Given the description of an element on the screen output the (x, y) to click on. 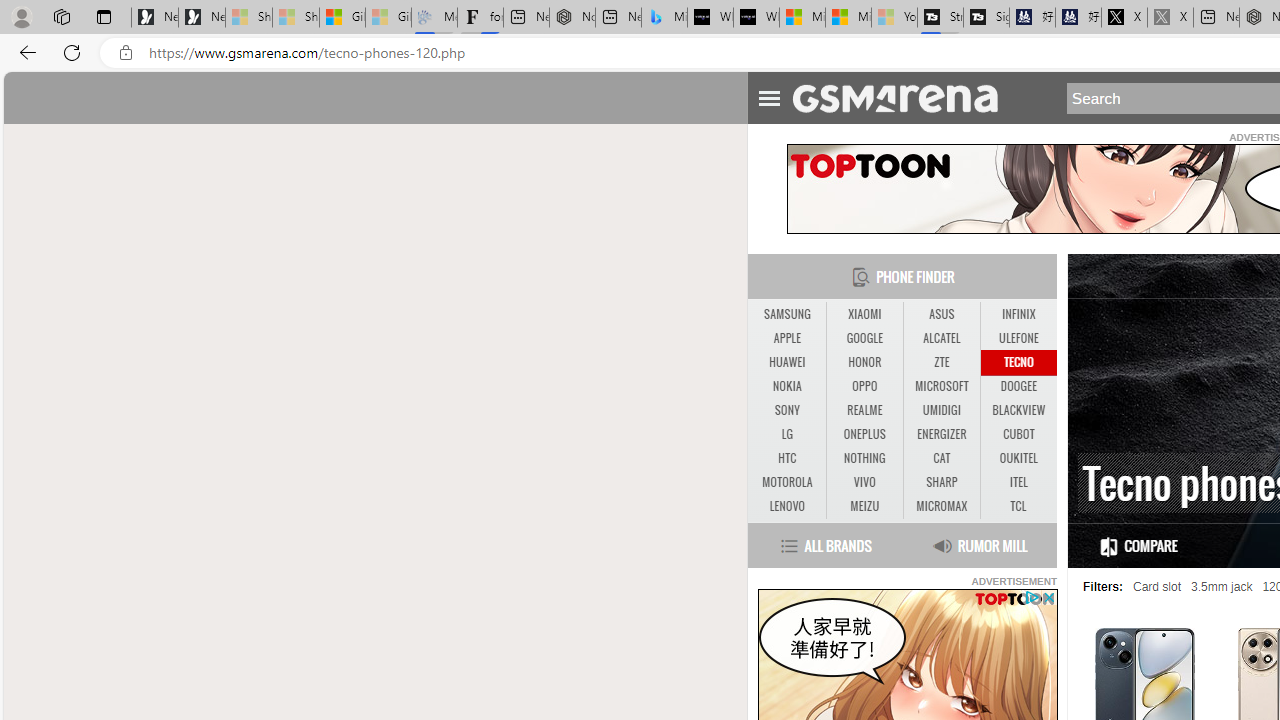
MICROMAX (941, 506)
Tab actions menu (104, 16)
ZTE (941, 362)
Personal Profile (21, 16)
TCL (1018, 506)
